Given the description of an element on the screen output the (x, y) to click on. 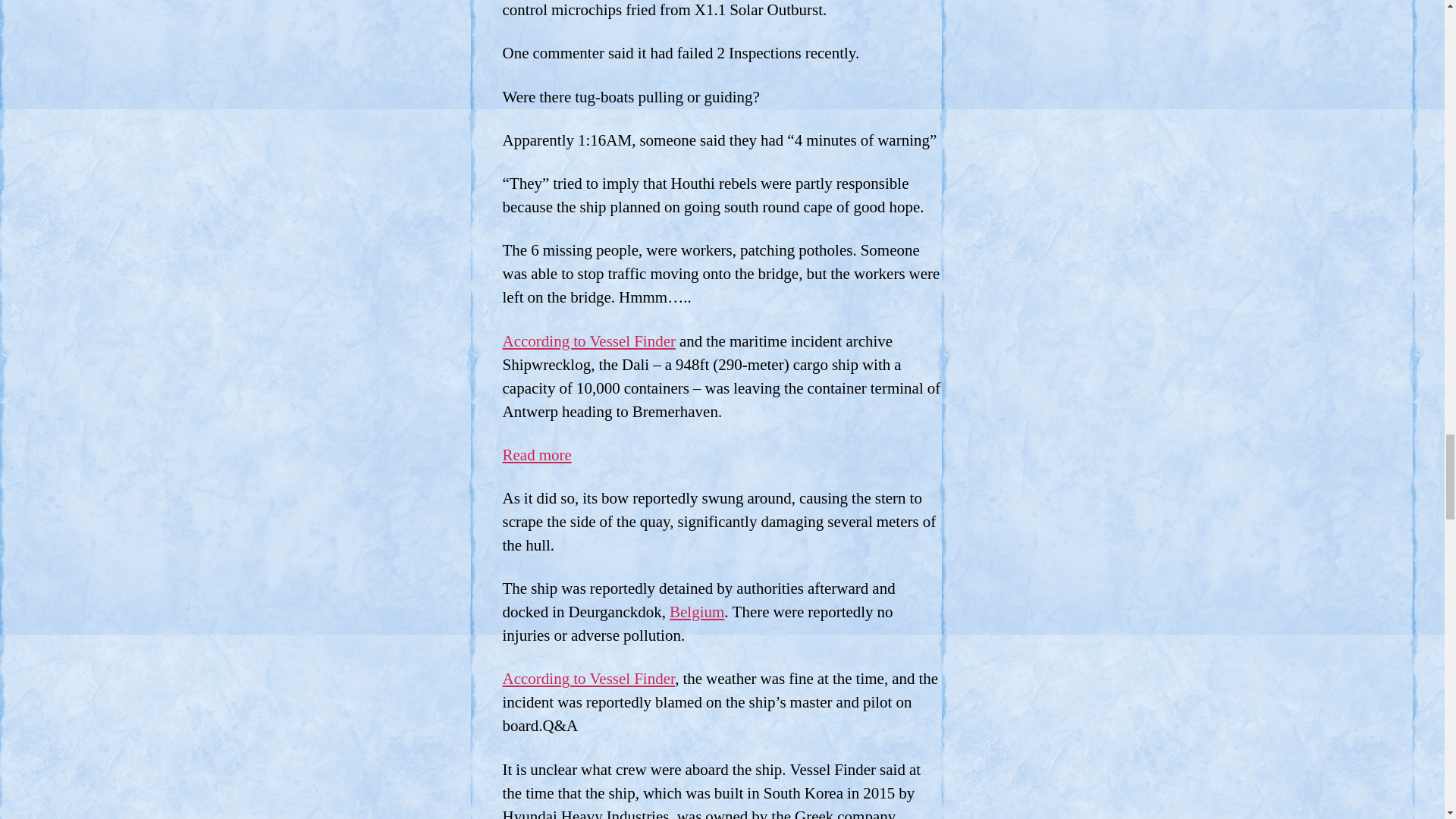
According to Vessel Finder (588, 679)
Read more (536, 455)
Belgium (696, 611)
According to Vessel Finder (588, 341)
